Given the description of an element on the screen output the (x, y) to click on. 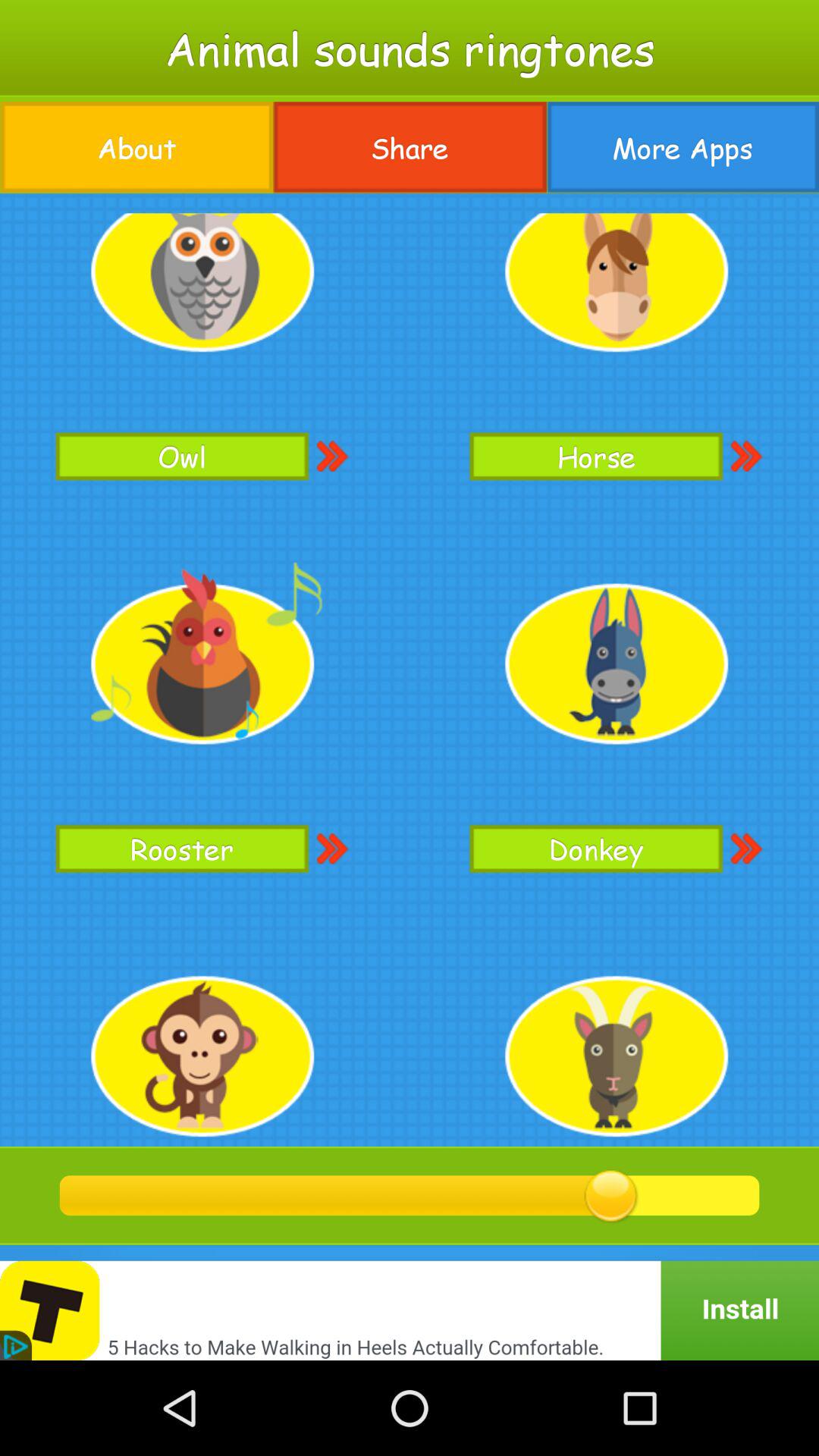
turn off the button below about item (409, 669)
